Given the description of an element on the screen output the (x, y) to click on. 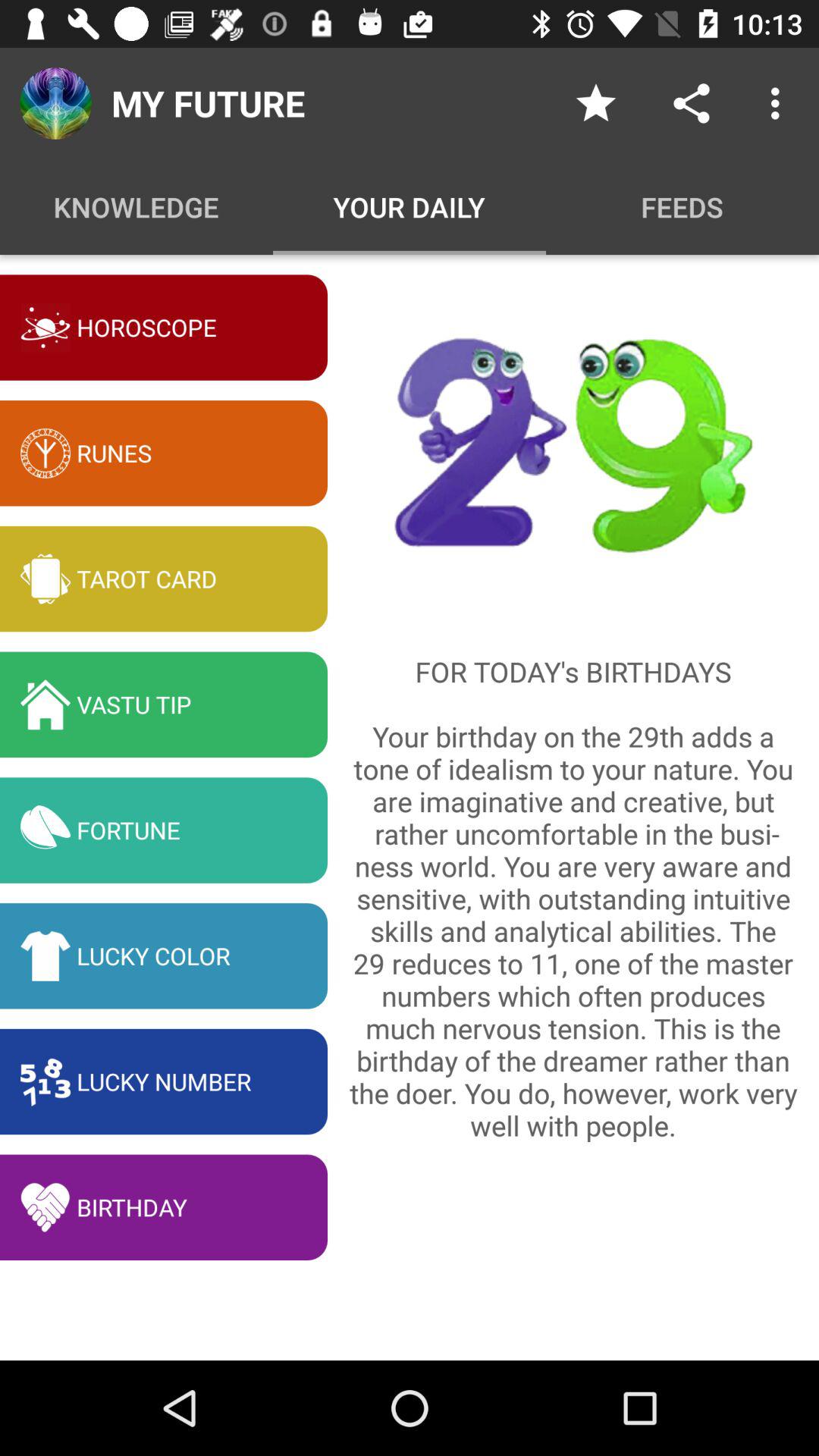
open the icon above feeds icon (595, 103)
